Given the description of an element on the screen output the (x, y) to click on. 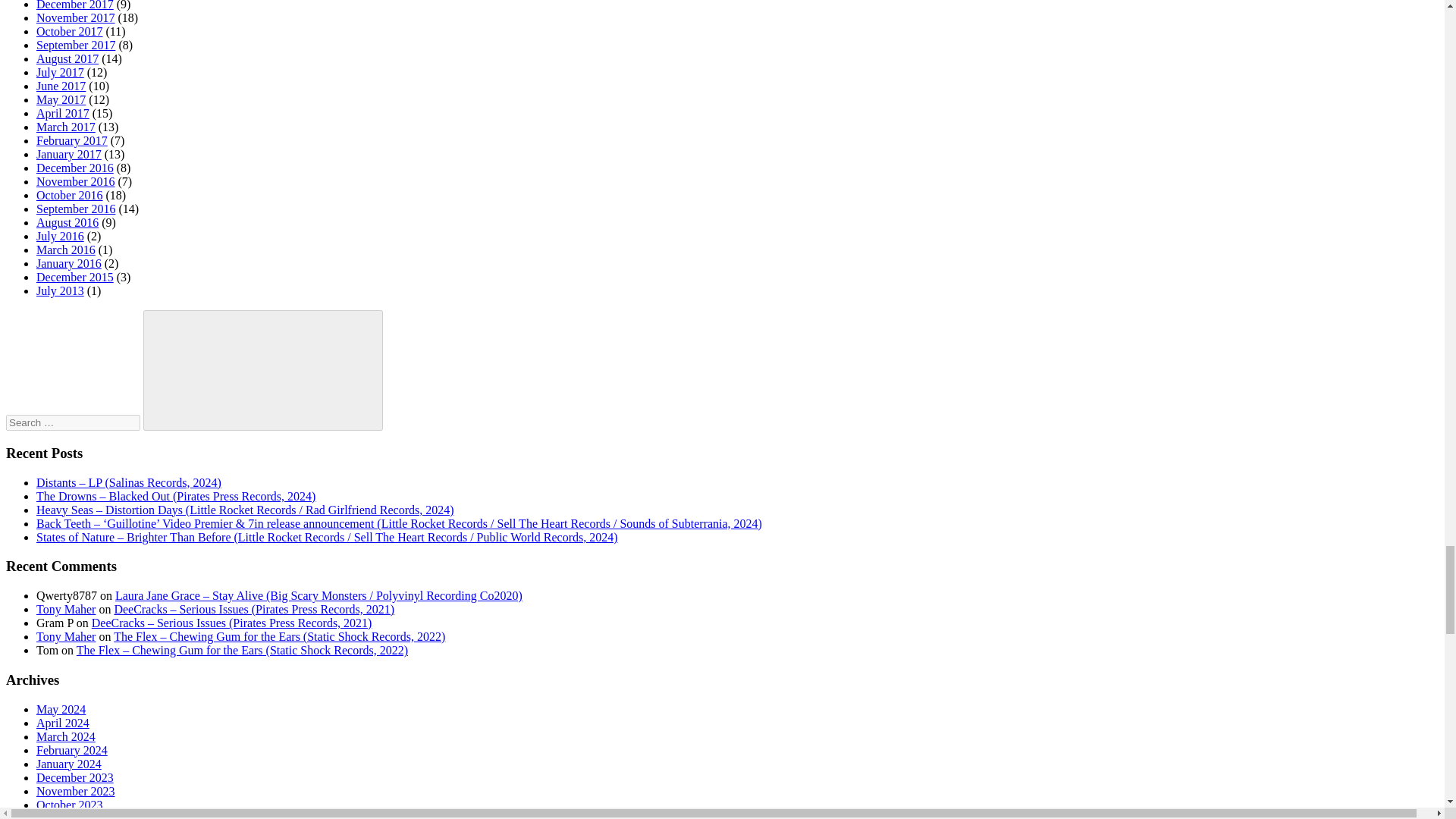
Search for: (72, 422)
